Given the description of an element on the screen output the (x, y) to click on. 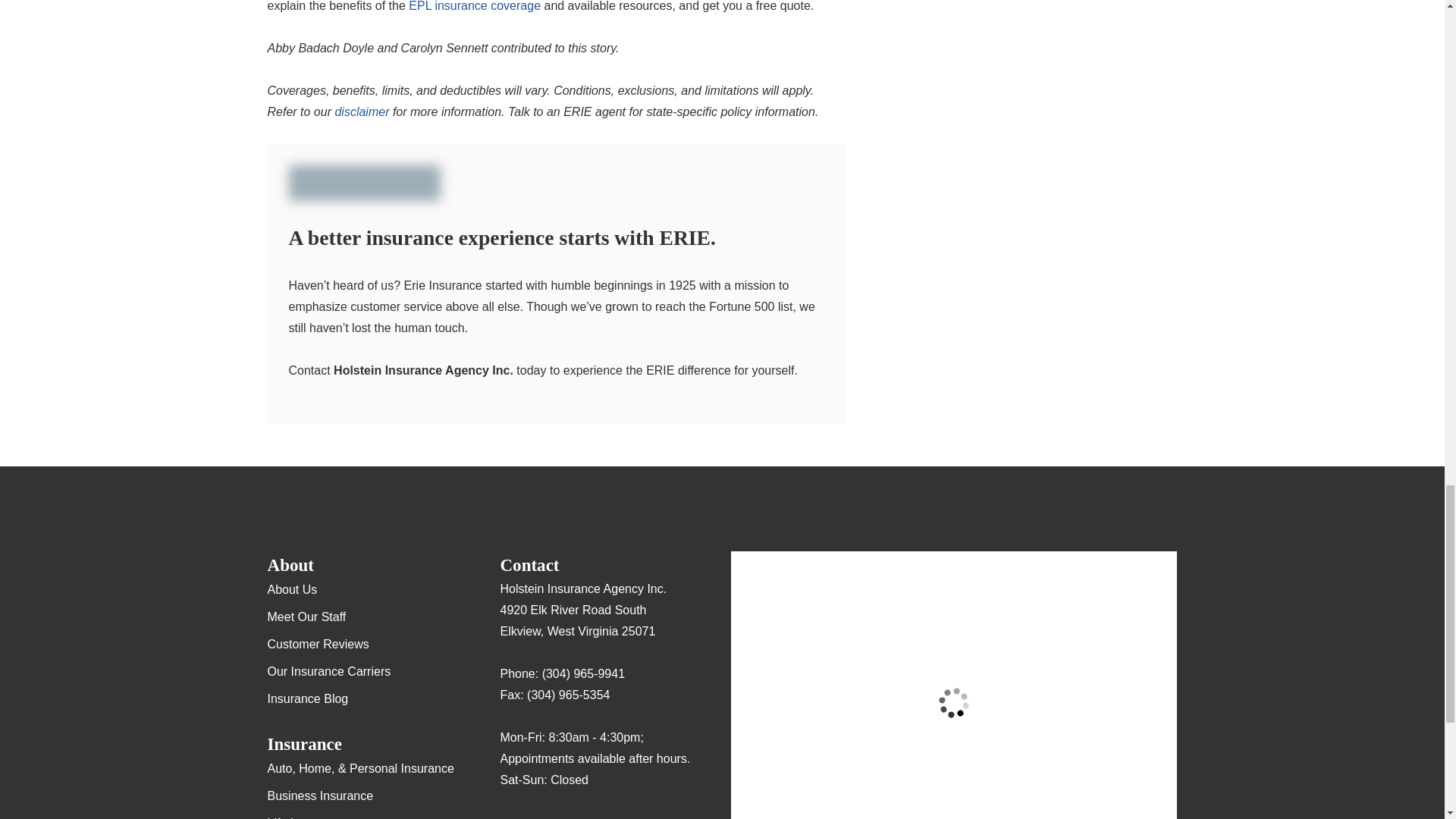
Yelp (541, 816)
Facebook (571, 816)
X (600, 816)
YouTube (659, 816)
Google Maps (511, 816)
LinkedIn (629, 816)
